Given the description of an element on the screen output the (x, y) to click on. 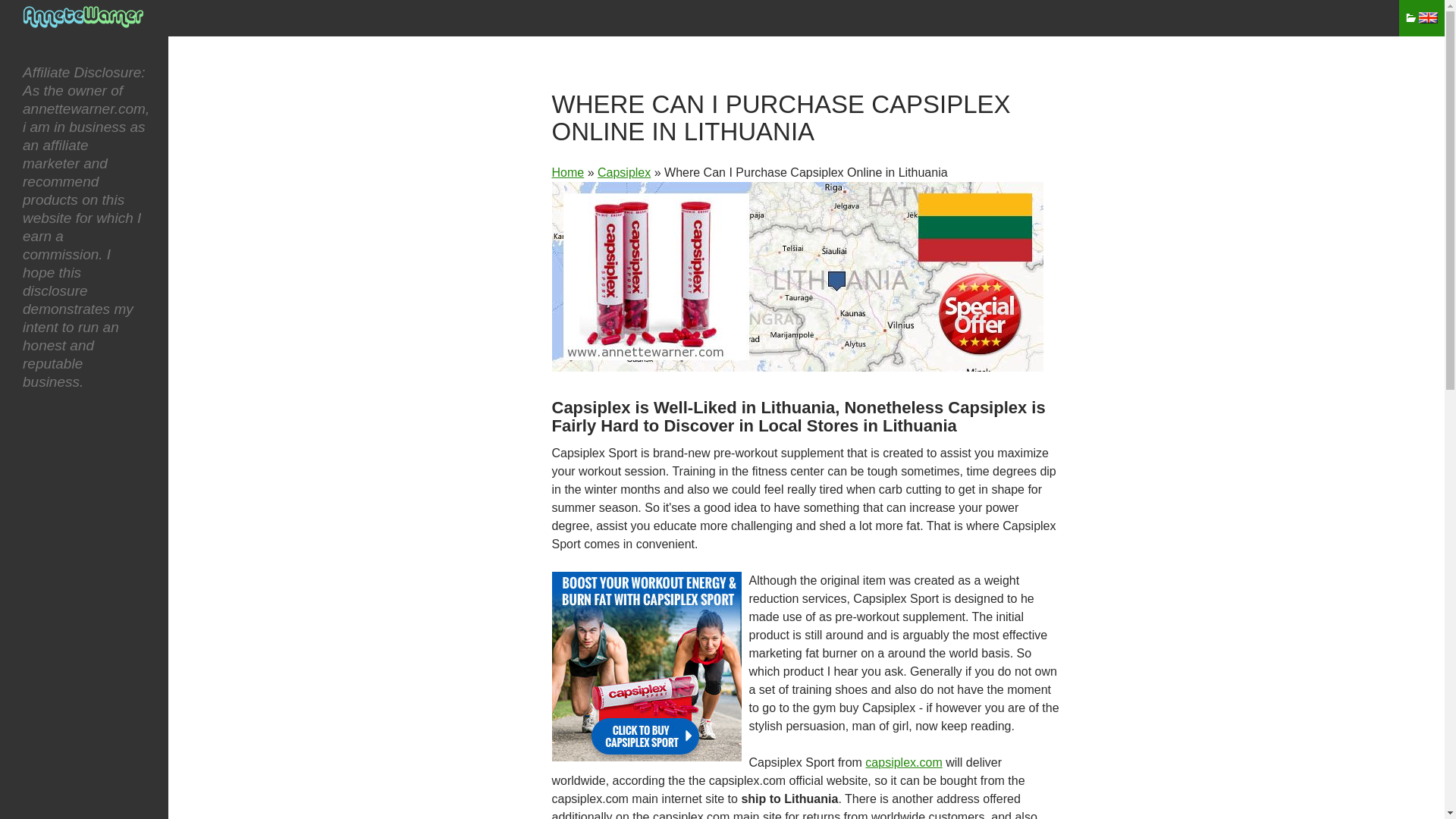
Home (568, 172)
Capsiplex (623, 172)
Buy Capsiplex Online  (623, 172)
Buy Capsiplex in Lithuania (646, 666)
Purchase Capsiplex online Lithuania (797, 276)
